Given the description of an element on the screen output the (x, y) to click on. 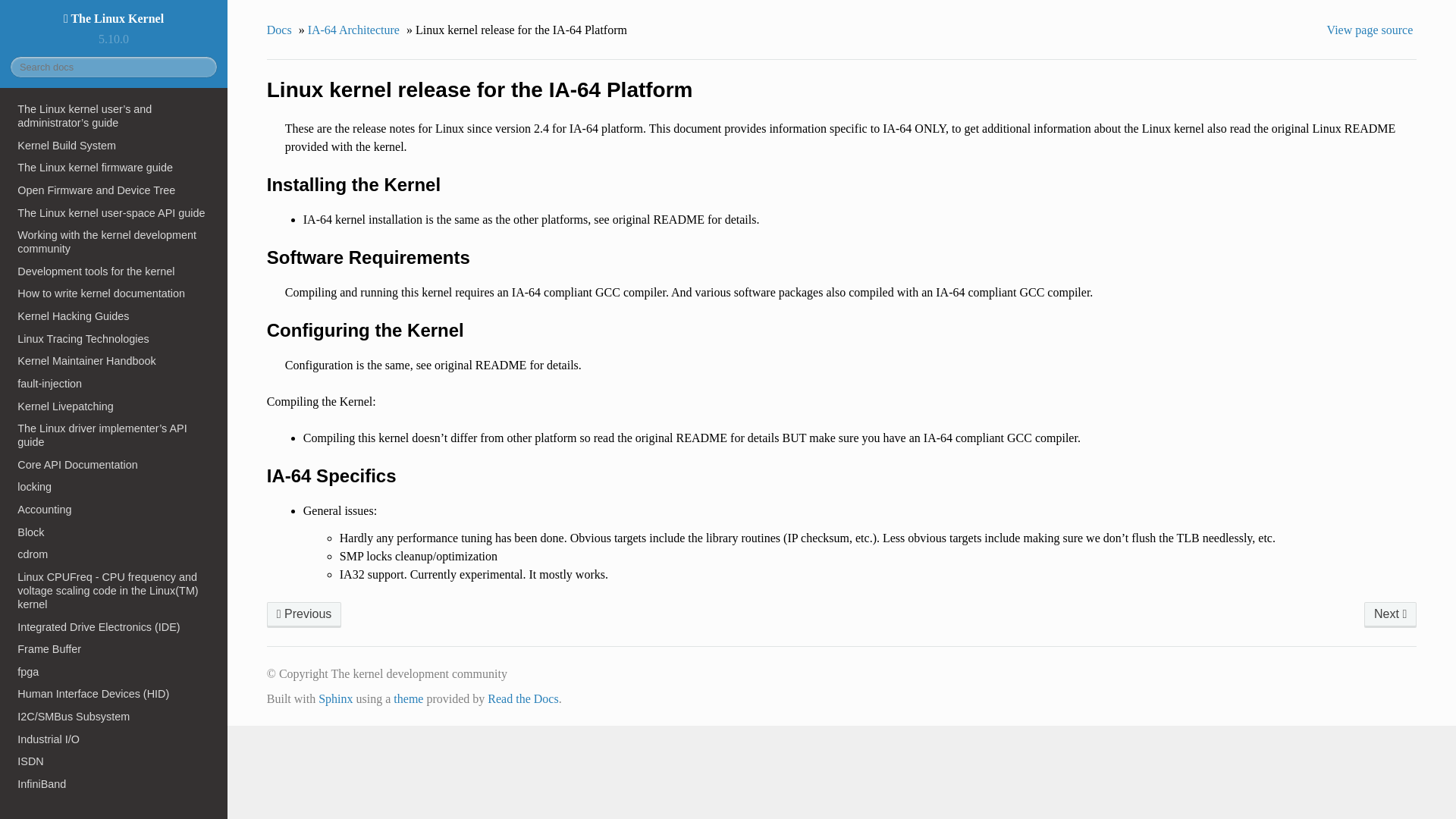
IA-64 Architecture (304, 614)
Kernel Build System (113, 145)
Open Firmware and Device Tree (113, 190)
Accounting (113, 508)
LEDs (113, 806)
Development tools for the kernel (113, 271)
cdrom (113, 553)
Linux Tracing Technologies (113, 338)
The Linux Kernel (113, 18)
fpga (113, 671)
